Given the description of an element on the screen output the (x, y) to click on. 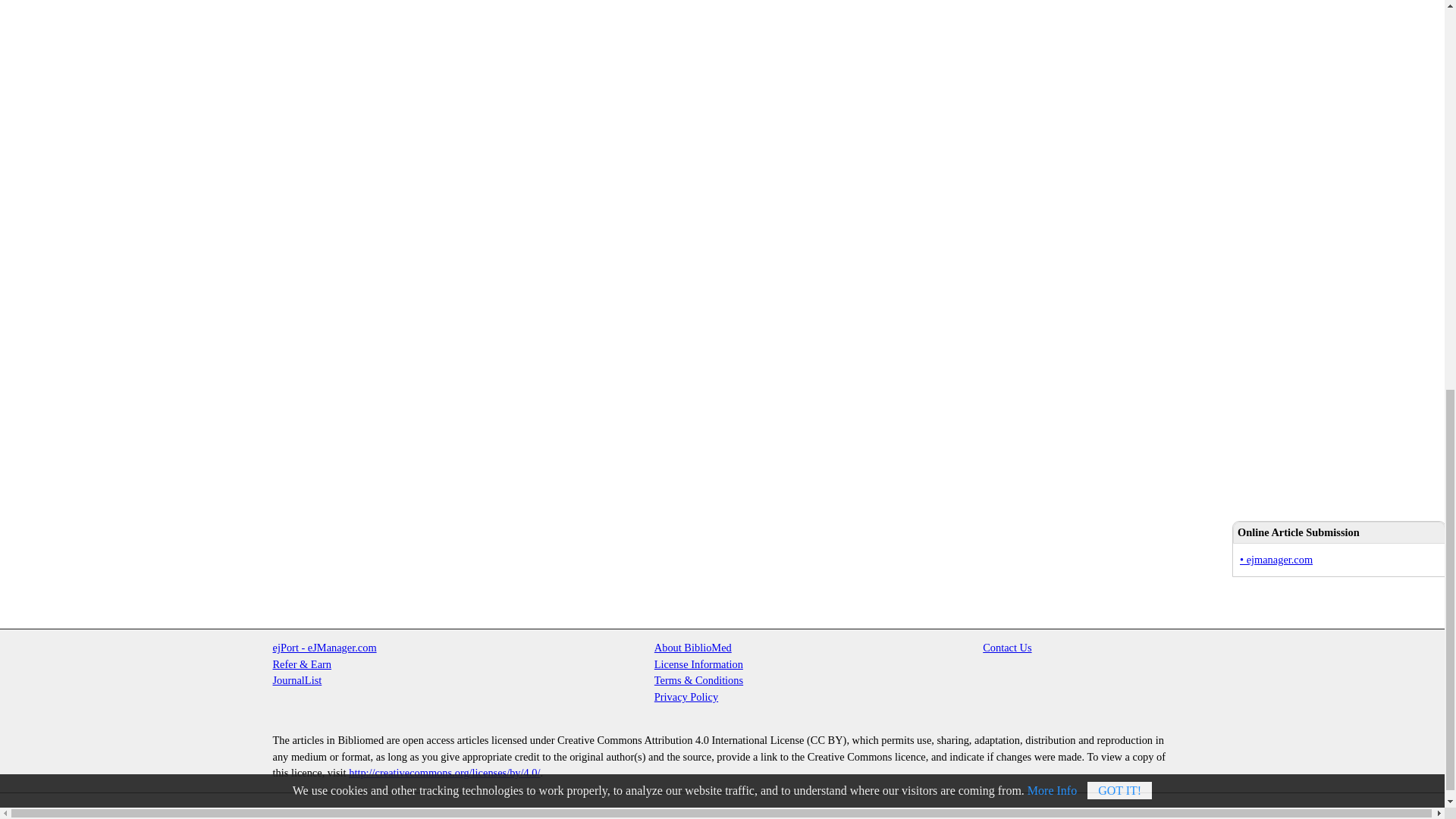
Contact Us (1006, 647)
Advertisement (1307, 266)
About BiblioMed (692, 647)
Privacy Policy (685, 696)
ejPort - eJManager.com (325, 647)
More Info (1052, 27)
License Information (697, 664)
JournalList (297, 680)
